Given the description of an element on the screen output the (x, y) to click on. 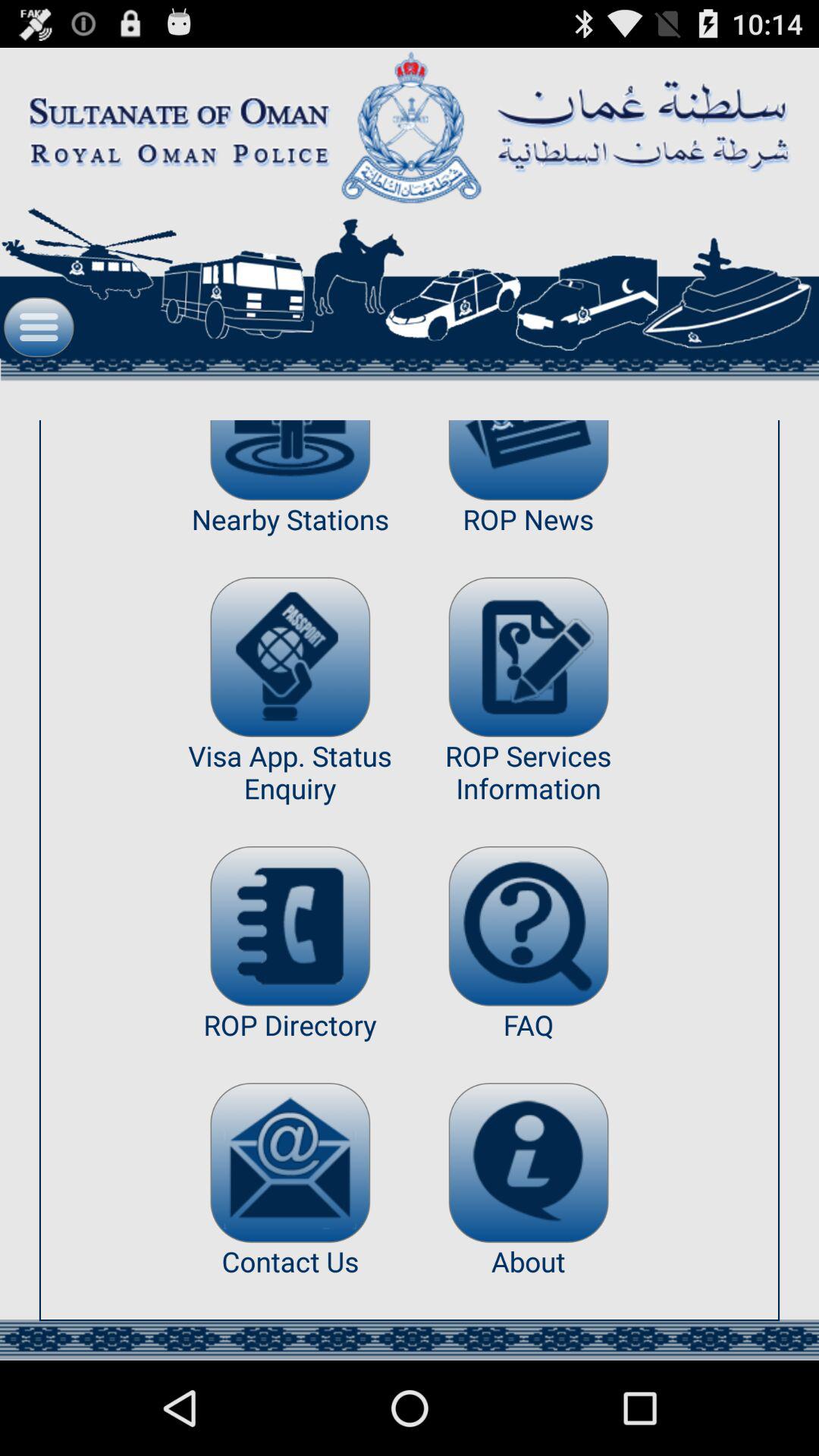
open icon next to rop directory app (528, 1162)
